Given the description of an element on the screen output the (x, y) to click on. 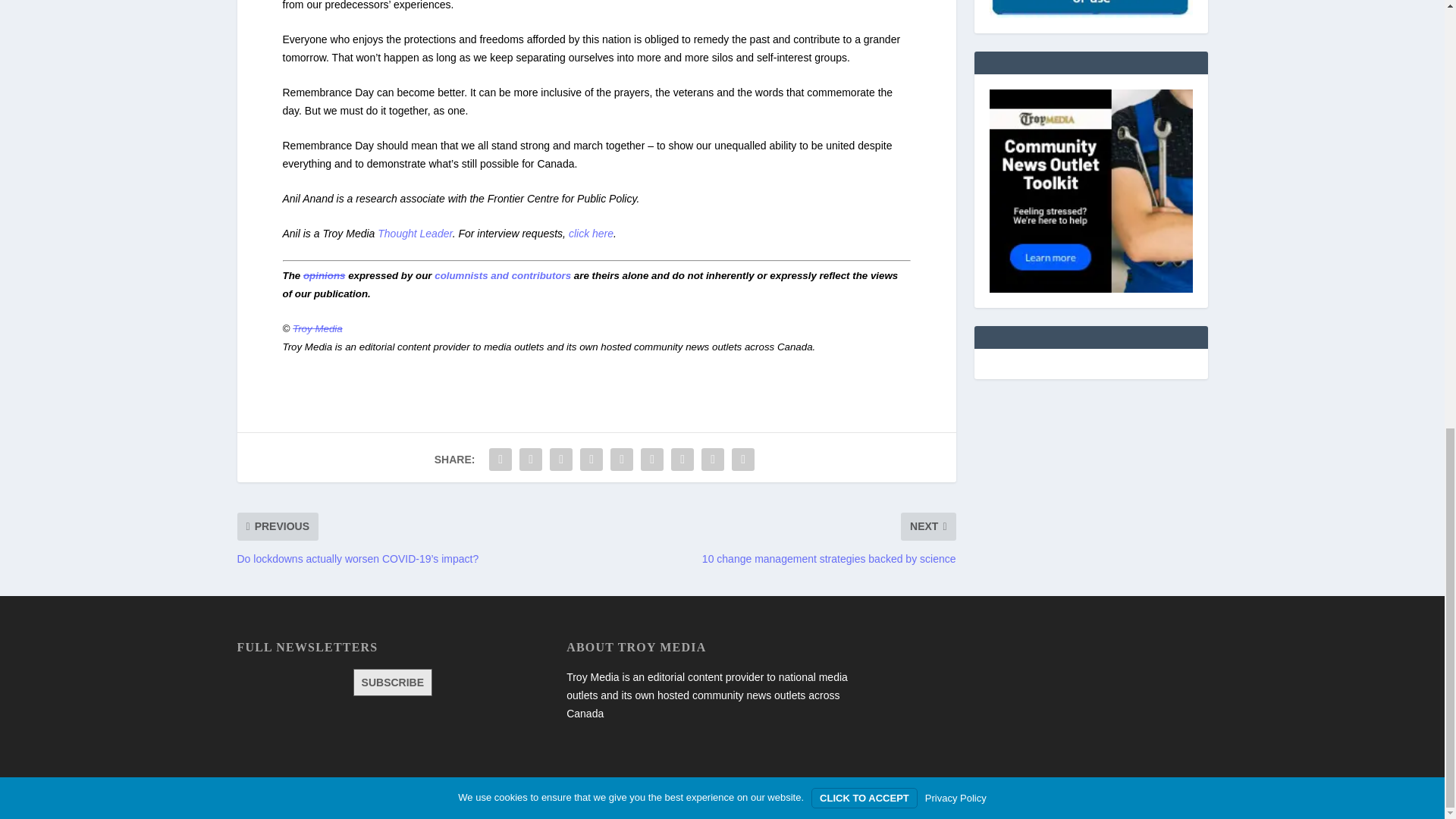
Premium WordPress Themes (336, 800)
